Given the description of an element on the screen output the (x, y) to click on. 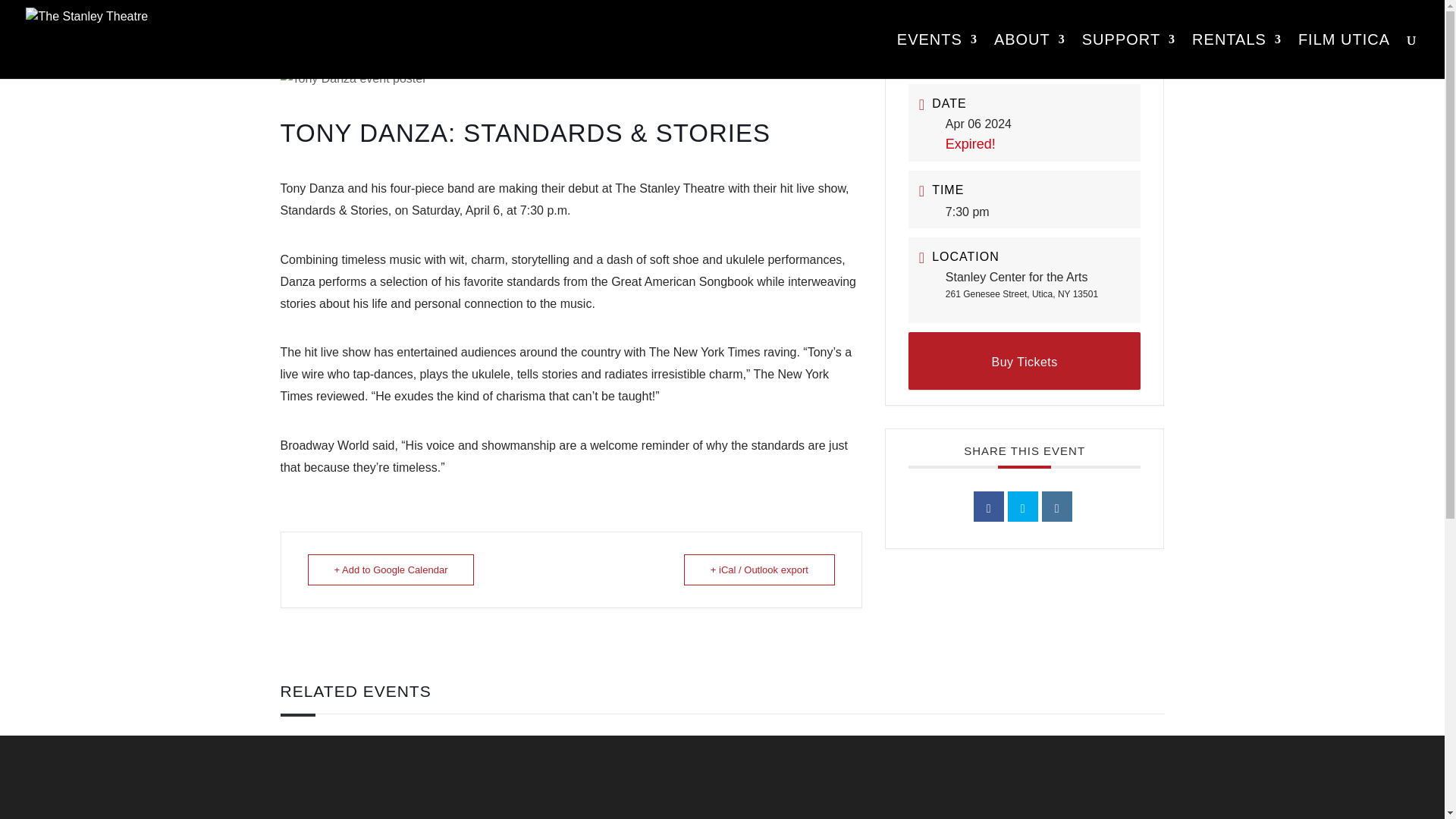
FILM UTICA (1344, 56)
Share on Facebook (989, 506)
Buy Tickets (1024, 360)
SUPPORT (1127, 56)
ABOUT (1029, 56)
Tweet (1022, 506)
EVENTS (936, 56)
Linkedin (1056, 506)
RENTALS (1236, 56)
